Given the description of an element on the screen output the (x, y) to click on. 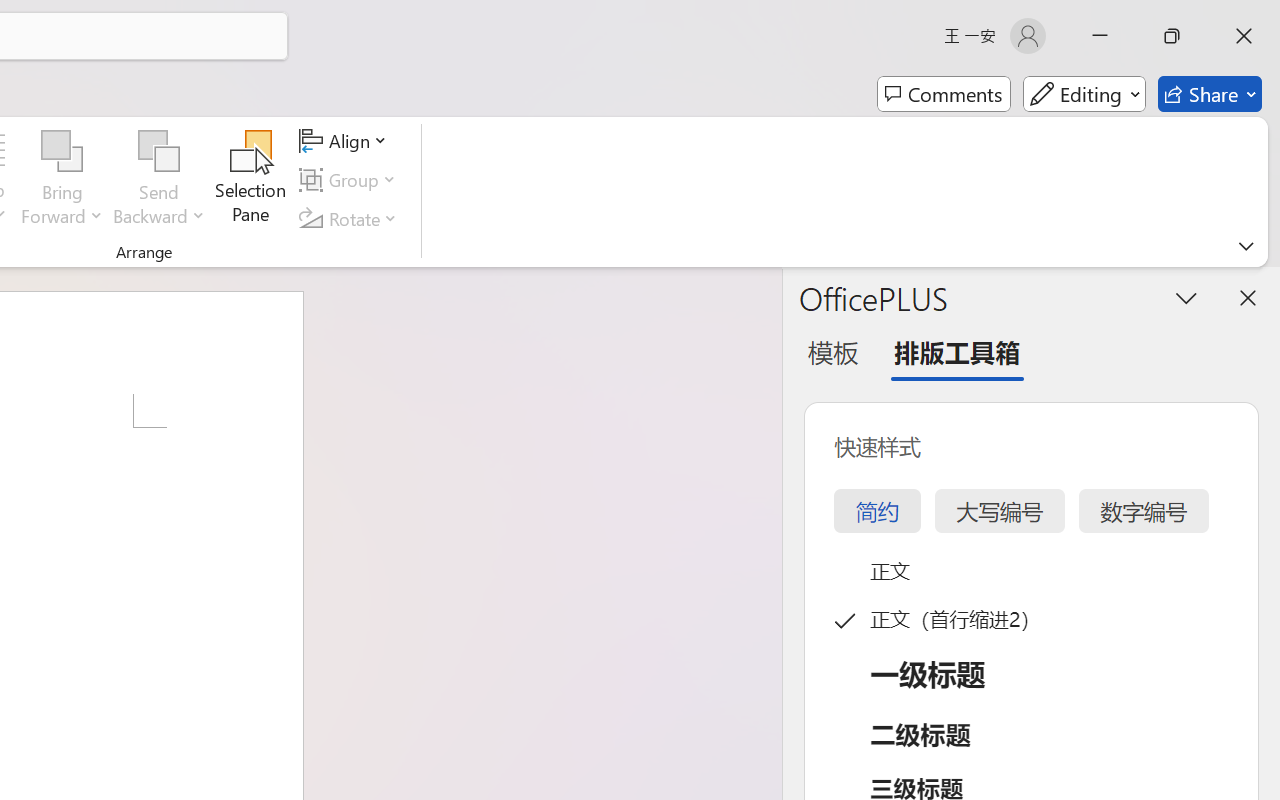
Selection Pane... (251, 179)
Send Backward (159, 179)
Group (351, 179)
Bring Forward (62, 179)
Align (346, 141)
Rotate (351, 218)
